Given the description of an element on the screen output the (x, y) to click on. 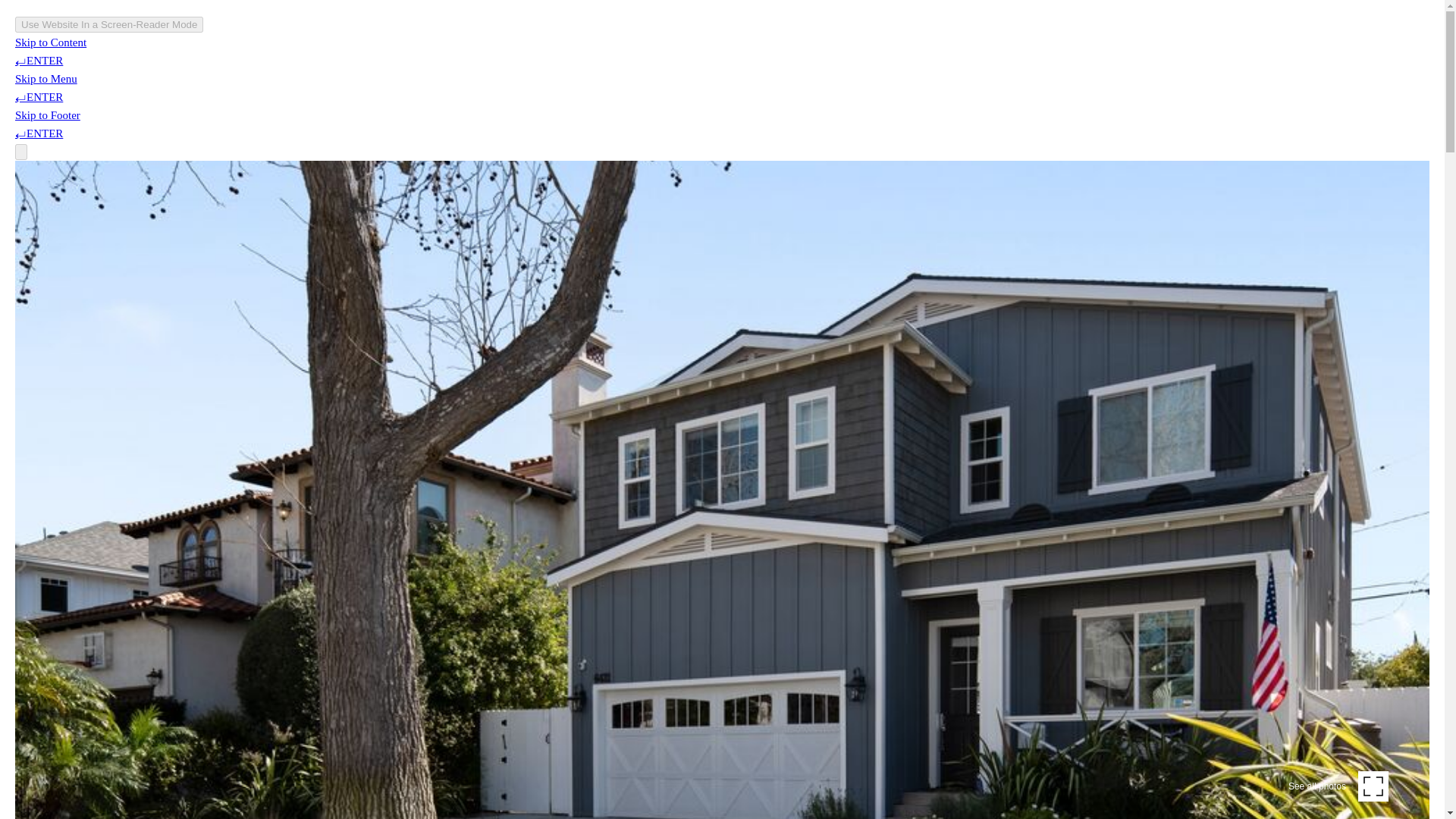
See all photos (1338, 785)
